Given the description of an element on the screen output the (x, y) to click on. 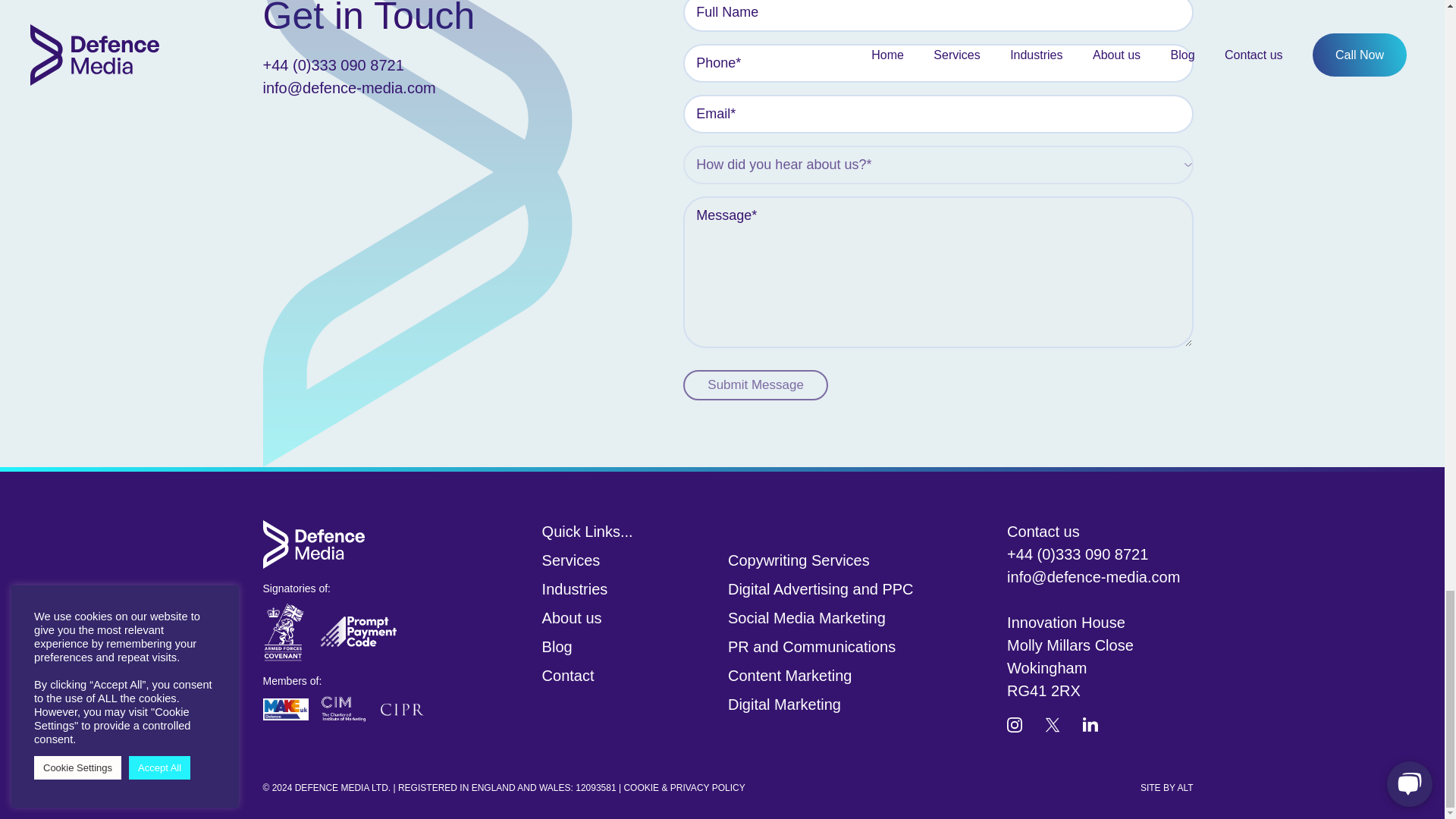
Submit Message (755, 385)
